Given the description of an element on the screen output the (x, y) to click on. 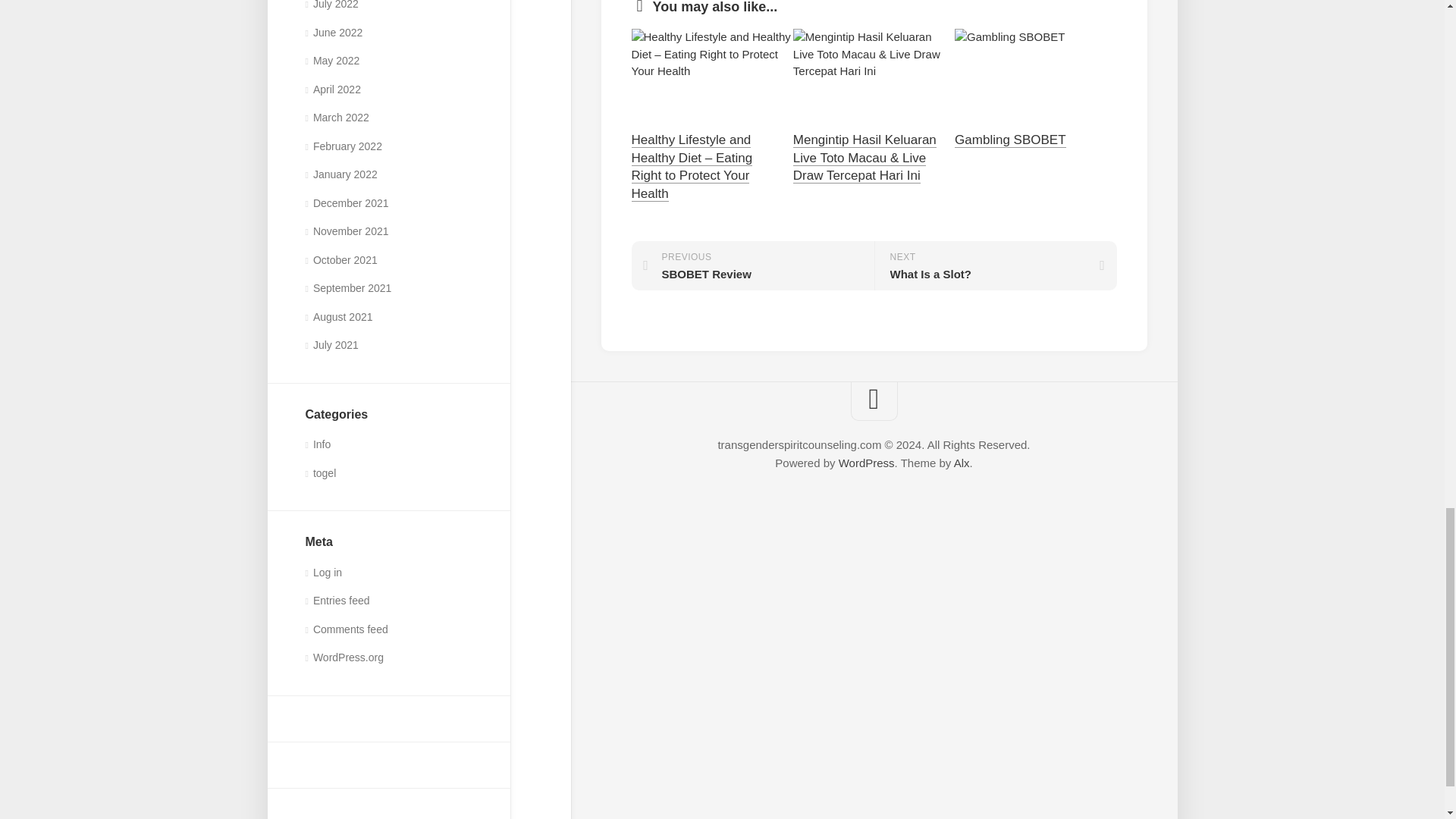
March 2022 (336, 117)
May 2022 (331, 60)
July 2022 (331, 4)
April 2022 (331, 89)
June 2022 (333, 32)
